Given the description of an element on the screen output the (x, y) to click on. 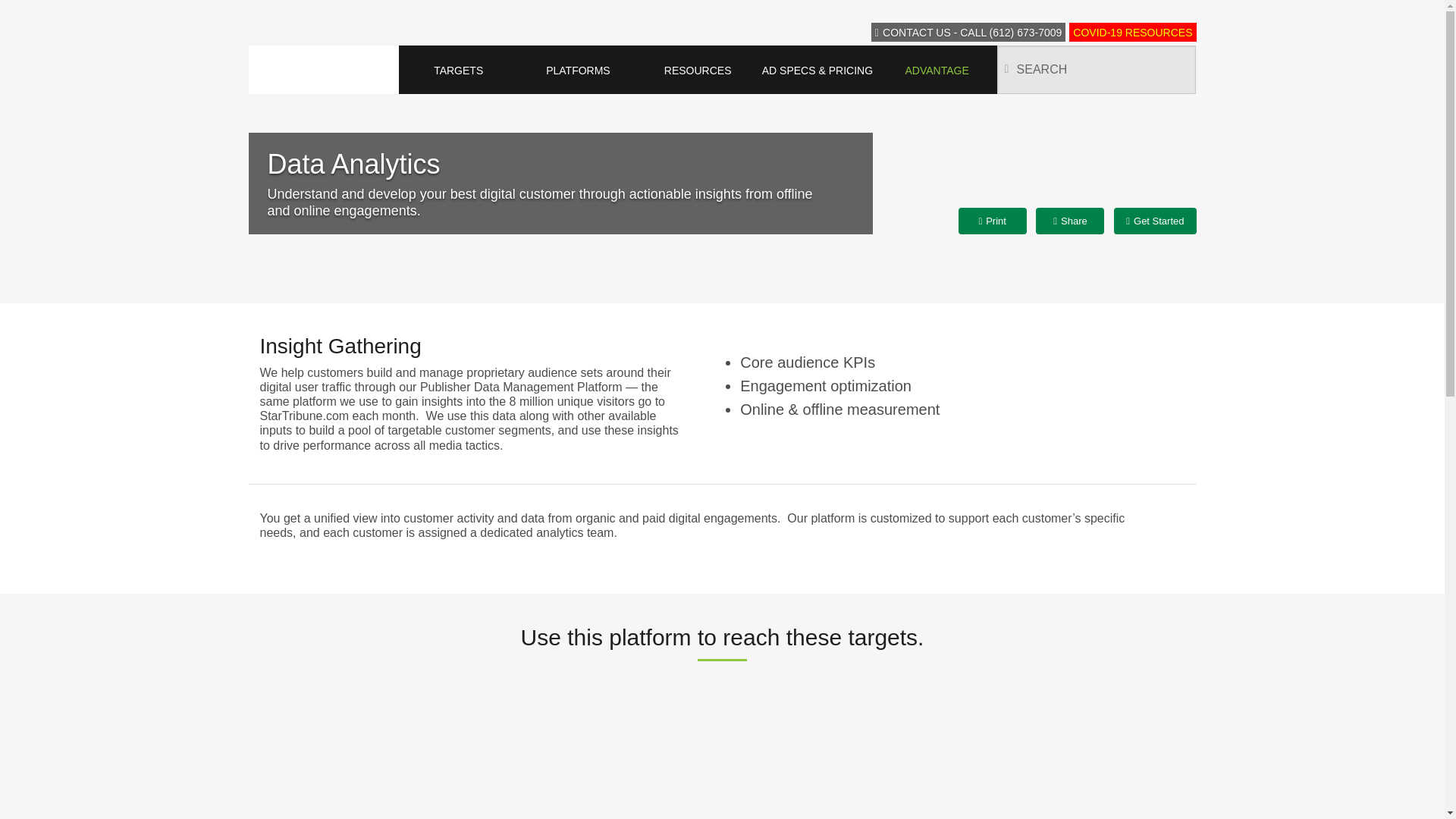
COVID-19 RESOURCES (1131, 31)
TARGETS (458, 69)
PLATFORMS (578, 69)
ADVANTAGE (937, 69)
RESOURCES (697, 69)
